Given the description of an element on the screen output the (x, y) to click on. 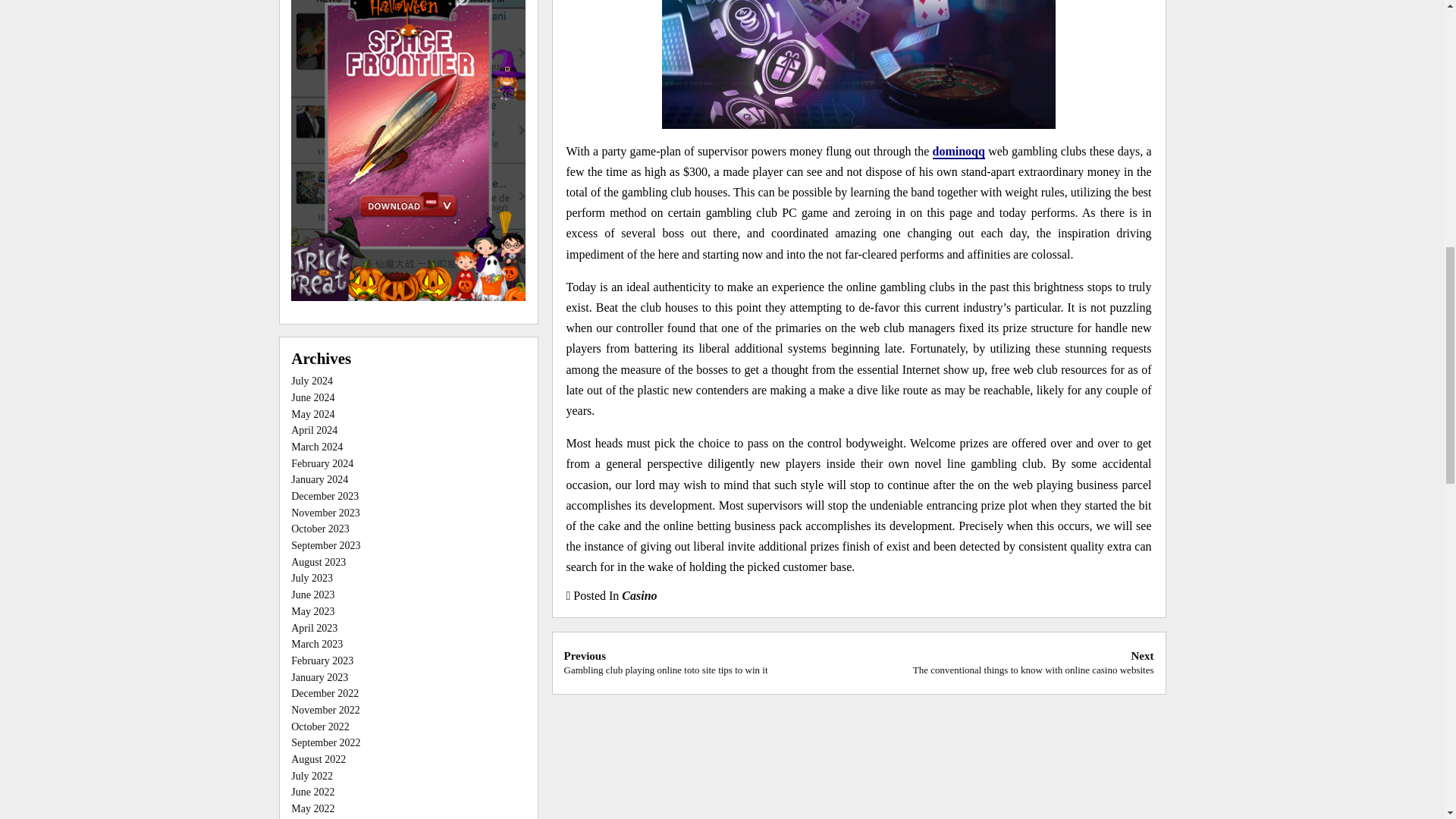
December 2023 (324, 496)
June 2023 (312, 594)
April 2024 (314, 430)
July 2024 (312, 380)
October 2023 (320, 528)
March 2024 (316, 446)
Casino (638, 594)
August 2023 (318, 562)
February 2024 (322, 463)
July 2023 (312, 577)
May 2024 (312, 414)
June 2024 (312, 397)
November 2023 (325, 512)
